Given the description of an element on the screen output the (x, y) to click on. 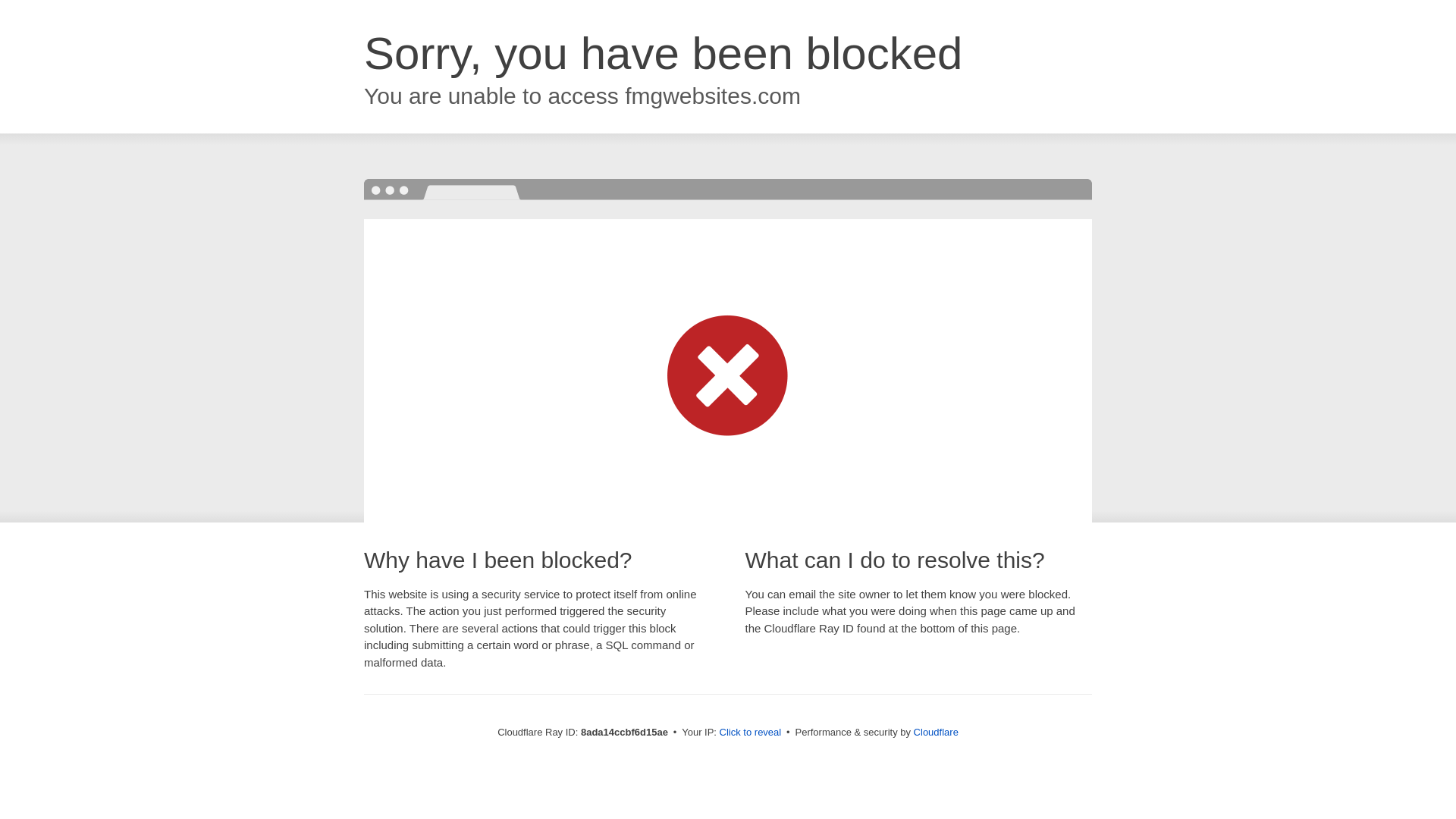
Cloudflare (936, 731)
Click to reveal (750, 732)
